Given the description of an element on the screen output the (x, y) to click on. 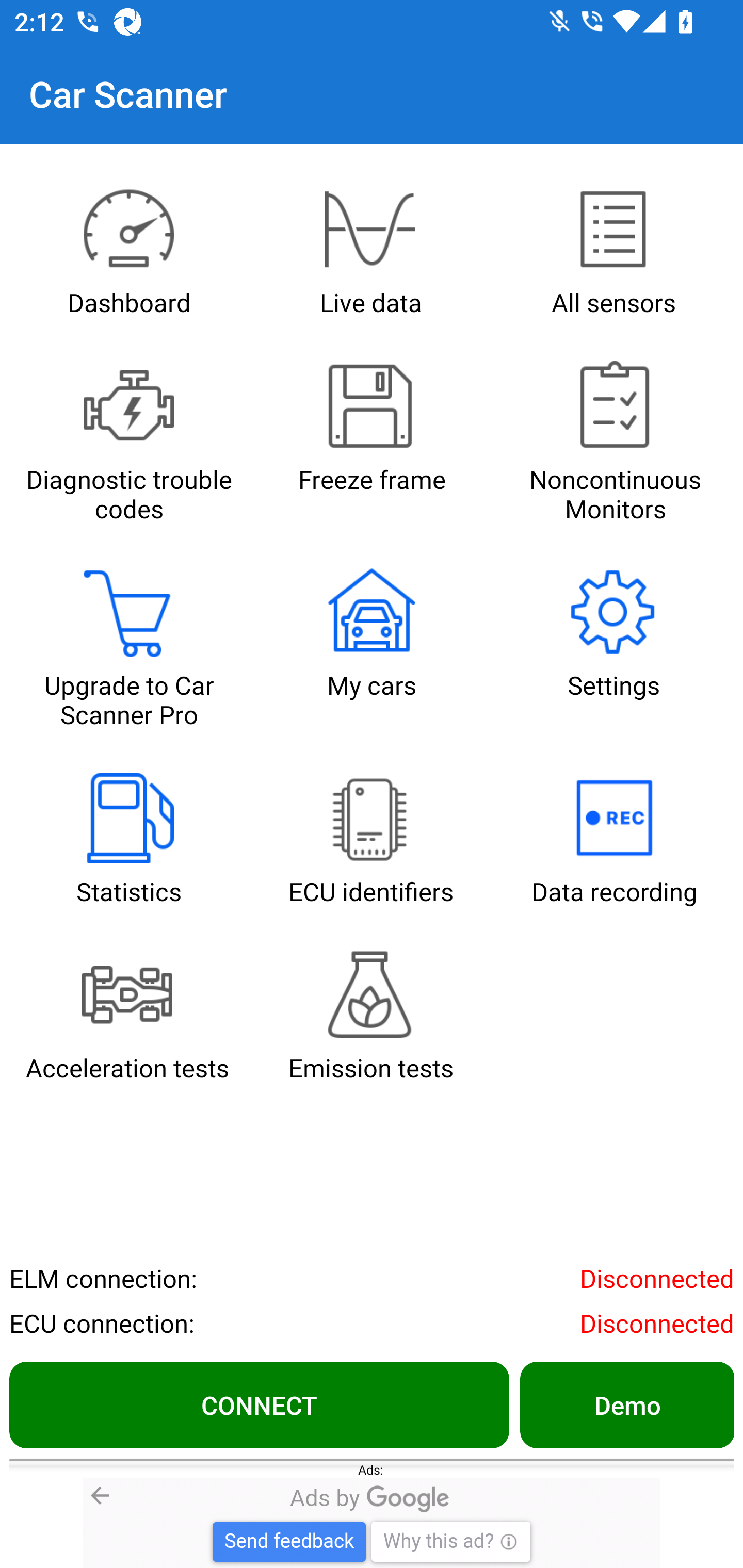
CONNECT (258, 1404)
Demo (627, 1404)
